Given the description of an element on the screen output the (x, y) to click on. 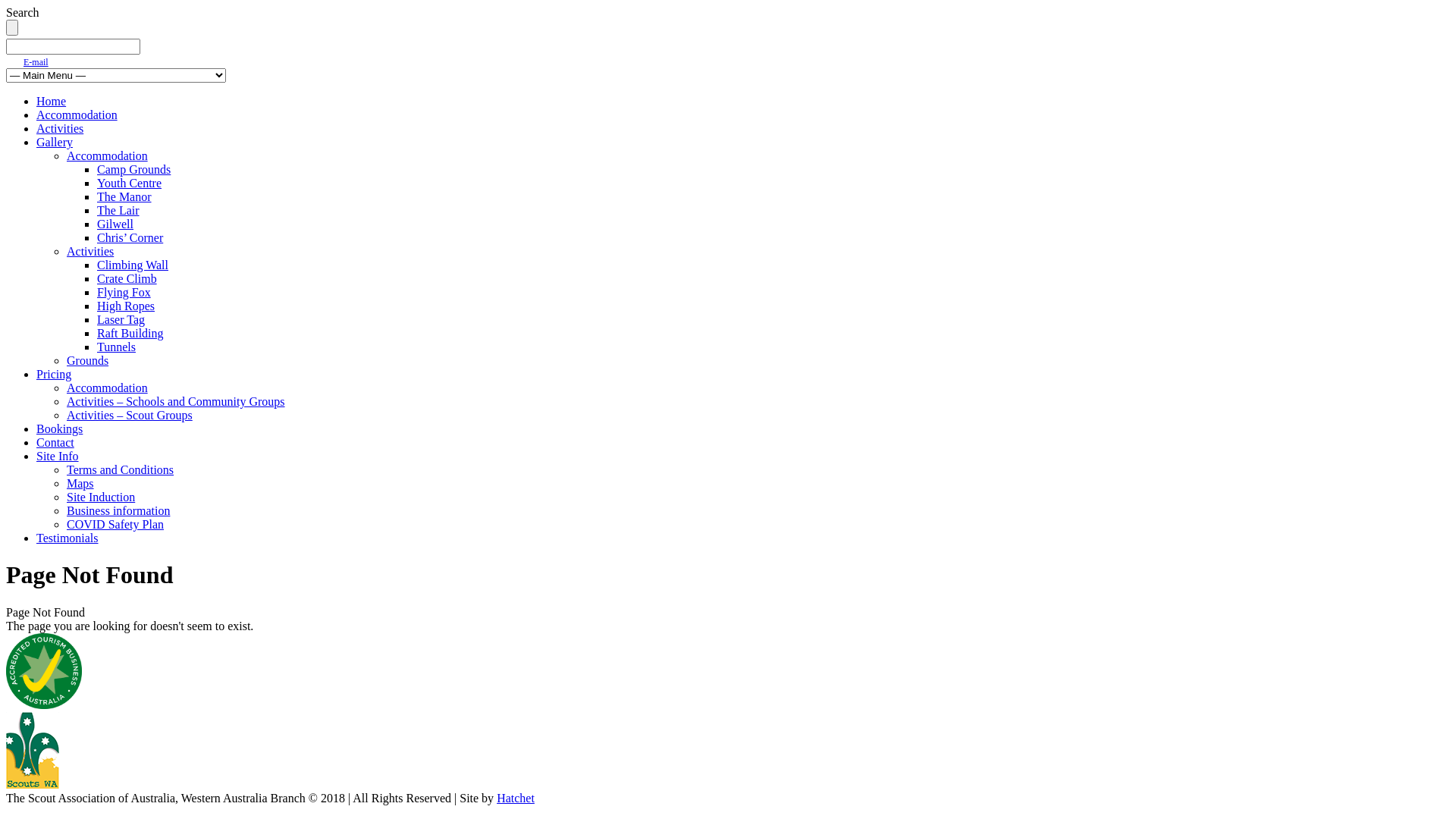
Testimonials Element type: text (67, 537)
Climbing Wall Element type: text (132, 264)
Business information Element type: text (117, 510)
Site Info Element type: text (57, 455)
Contact Element type: text (55, 442)
High Ropes Element type: text (125, 305)
Laser Tag Element type: text (120, 319)
Site Induction Element type: text (100, 496)
Pricing Element type: text (53, 373)
Terms and Conditions Element type: text (119, 469)
Youth Centre Element type: text (129, 182)
Tunnels Element type: text (116, 346)
Grounds Element type: text (87, 360)
Crate Climb Element type: text (126, 278)
Activities Element type: text (59, 128)
Gallery Element type: text (54, 141)
Hatchet Element type: text (515, 797)
Flying Fox Element type: text (123, 291)
Camp Grounds Element type: text (133, 169)
Raft Building Element type: text (130, 332)
Accommodation Element type: text (76, 114)
The Manor Element type: text (124, 196)
The Lair Element type: text (118, 209)
Gilwell Element type: text (115, 223)
Accommodation Element type: text (106, 387)
COVID Safety Plan Element type: text (114, 523)
E-mail Element type: text (35, 61)
Home Element type: text (50, 100)
Accommodation Element type: text (106, 155)
Bookings Element type: text (59, 428)
Maps Element type: text (80, 482)
Activities Element type: text (89, 250)
